Given the description of an element on the screen output the (x, y) to click on. 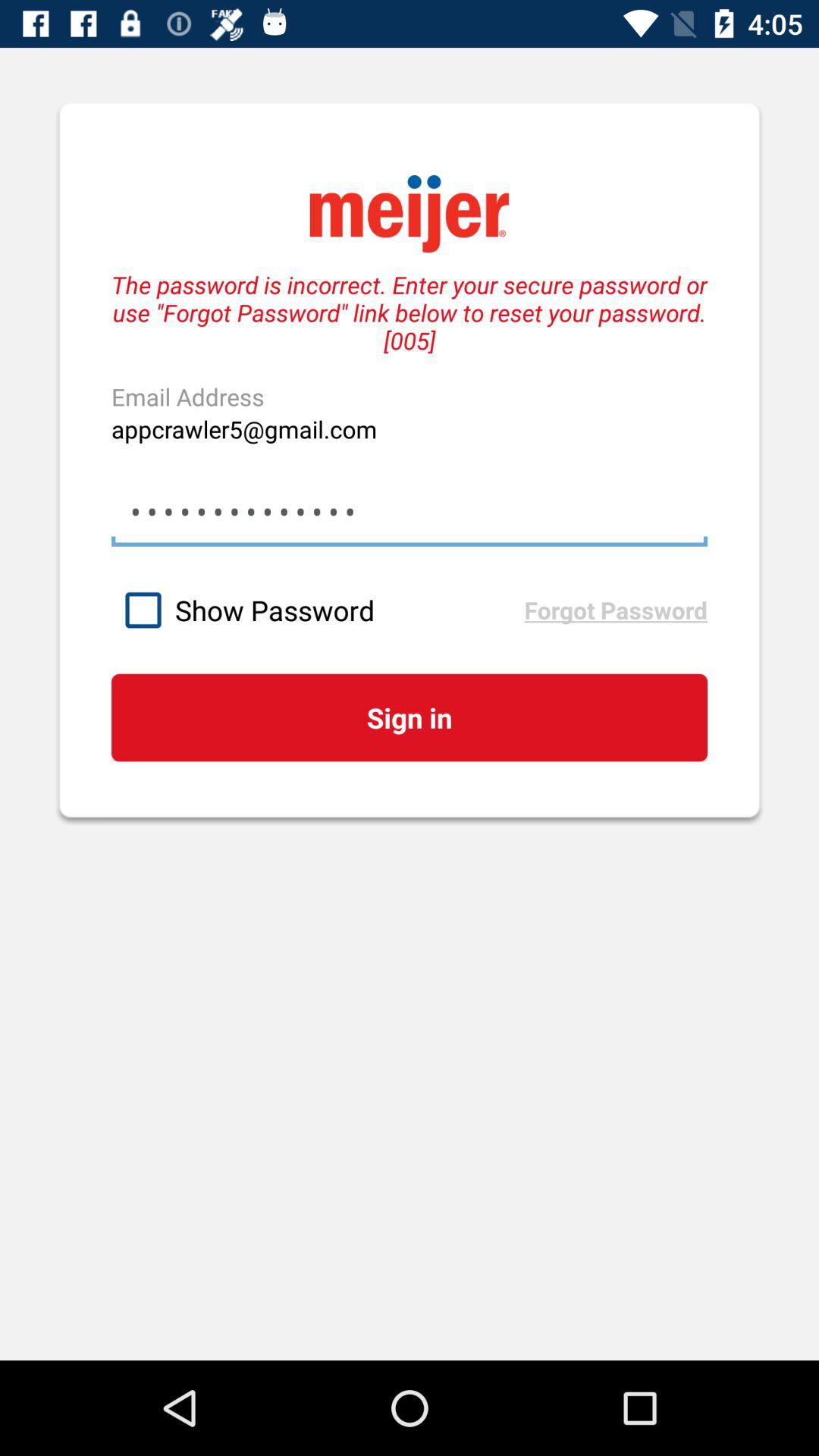
scroll until sign in item (409, 717)
